Given the description of an element on the screen output the (x, y) to click on. 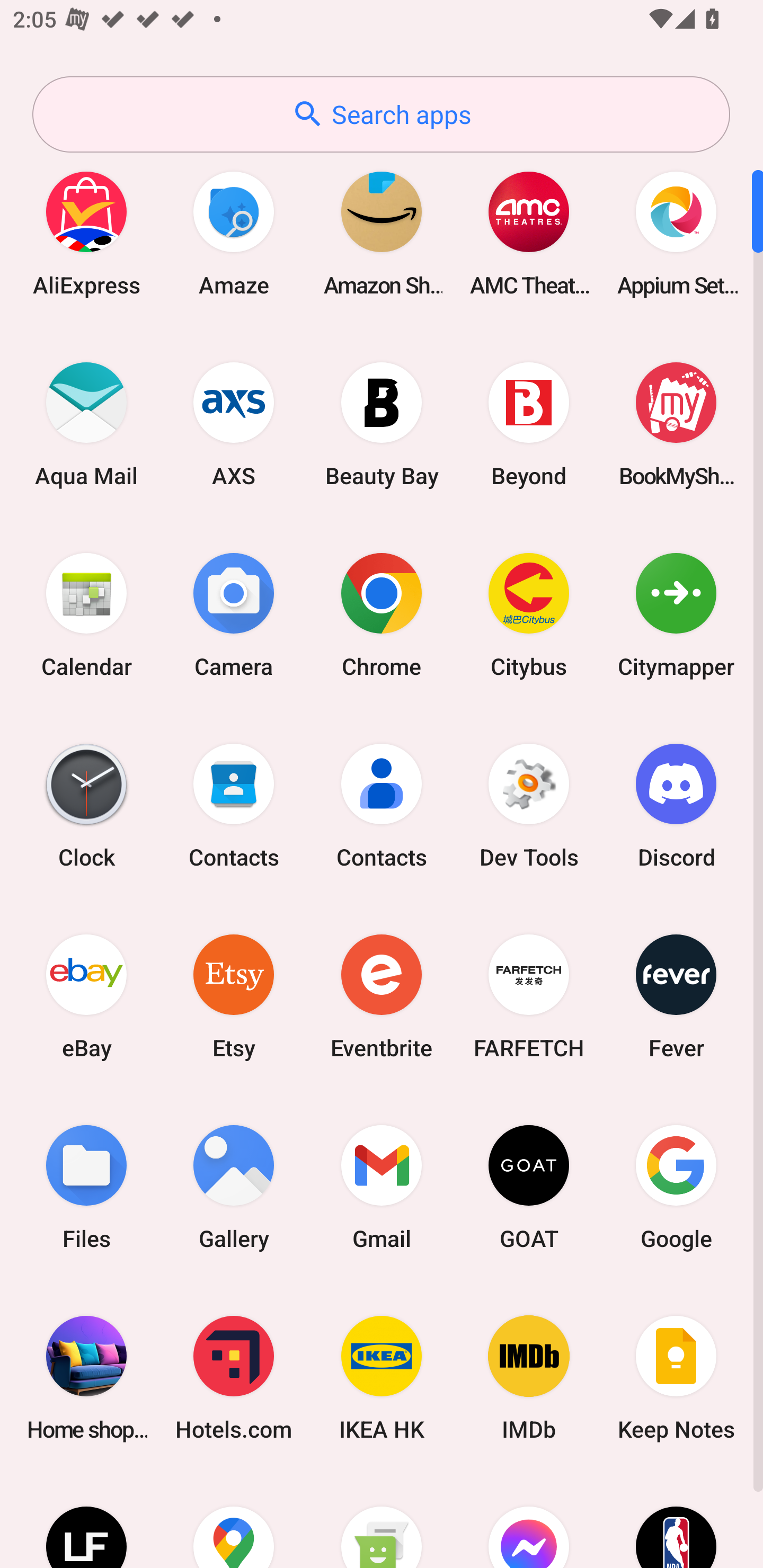
Citymapper (676, 614)
